Given the description of an element on the screen output the (x, y) to click on. 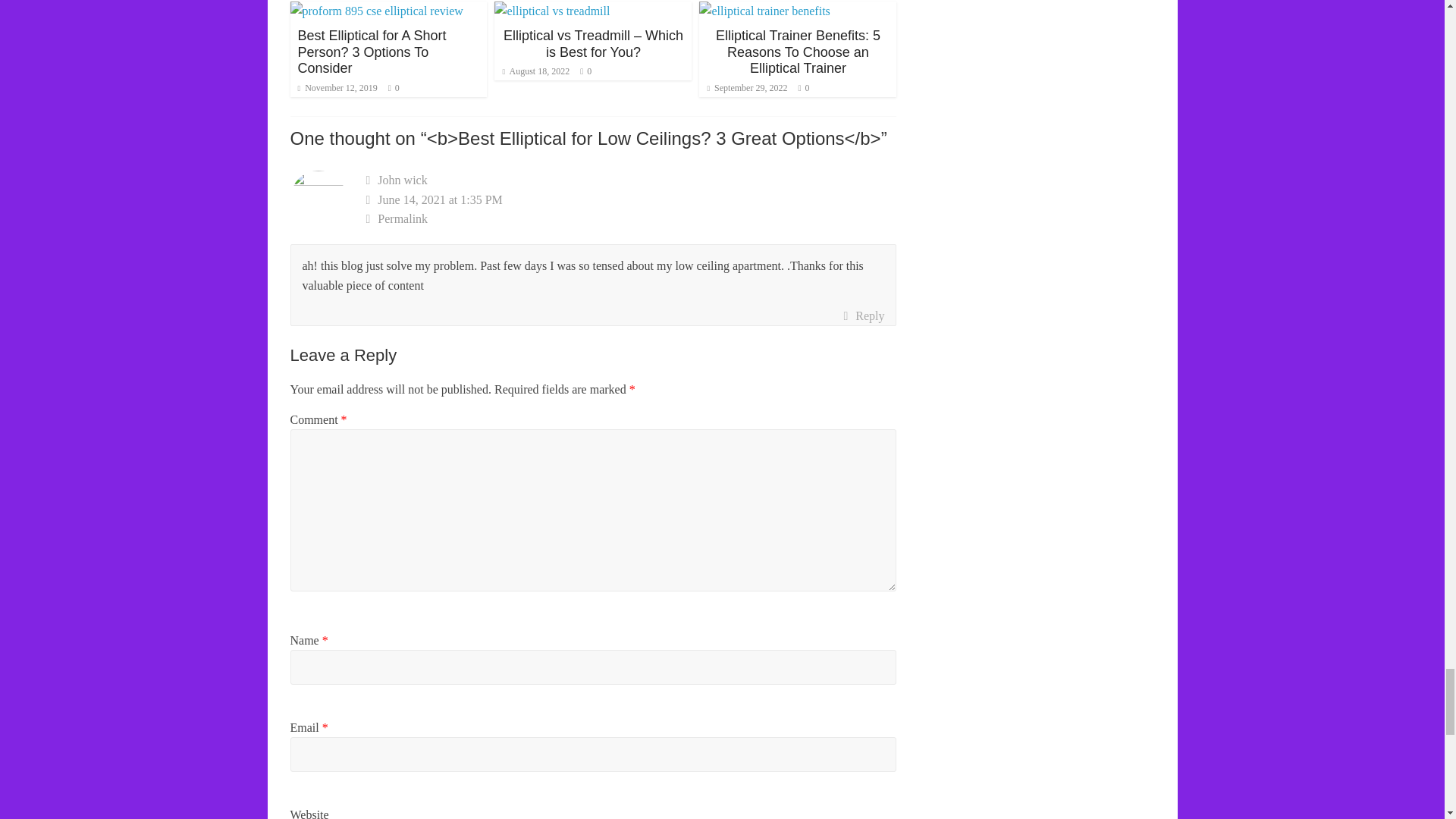
Best Elliptical for A Short Person? 3 Options To Consider (371, 51)
Best Elliptical for A Short Person? 3 Options To Consider (376, 10)
